Given the description of an element on the screen output the (x, y) to click on. 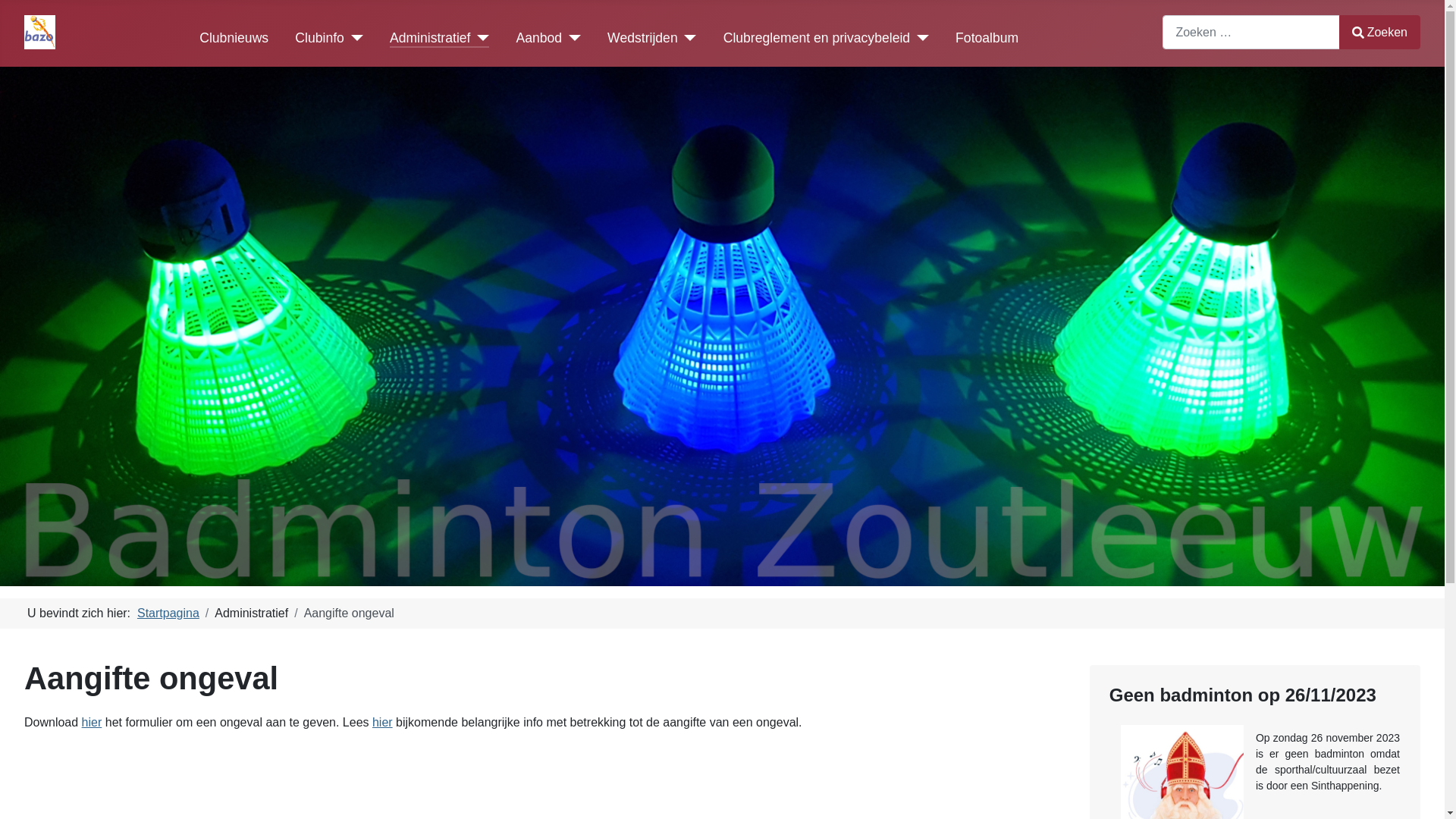
hier Element type: text (91, 721)
Fotoalbum Element type: text (986, 37)
Administratief Element type: text (439, 37)
Aanbod Element type: text (547, 37)
Clubnieuws Element type: text (233, 37)
Zoeken Element type: text (1379, 32)
Clubreglement en privacybeleid Element type: text (825, 37)
Startpagina Element type: text (168, 612)
hier Element type: text (382, 721)
Clubinfo Element type: text (328, 37)
Wedstrijden Element type: text (651, 37)
